Given the description of an element on the screen output the (x, y) to click on. 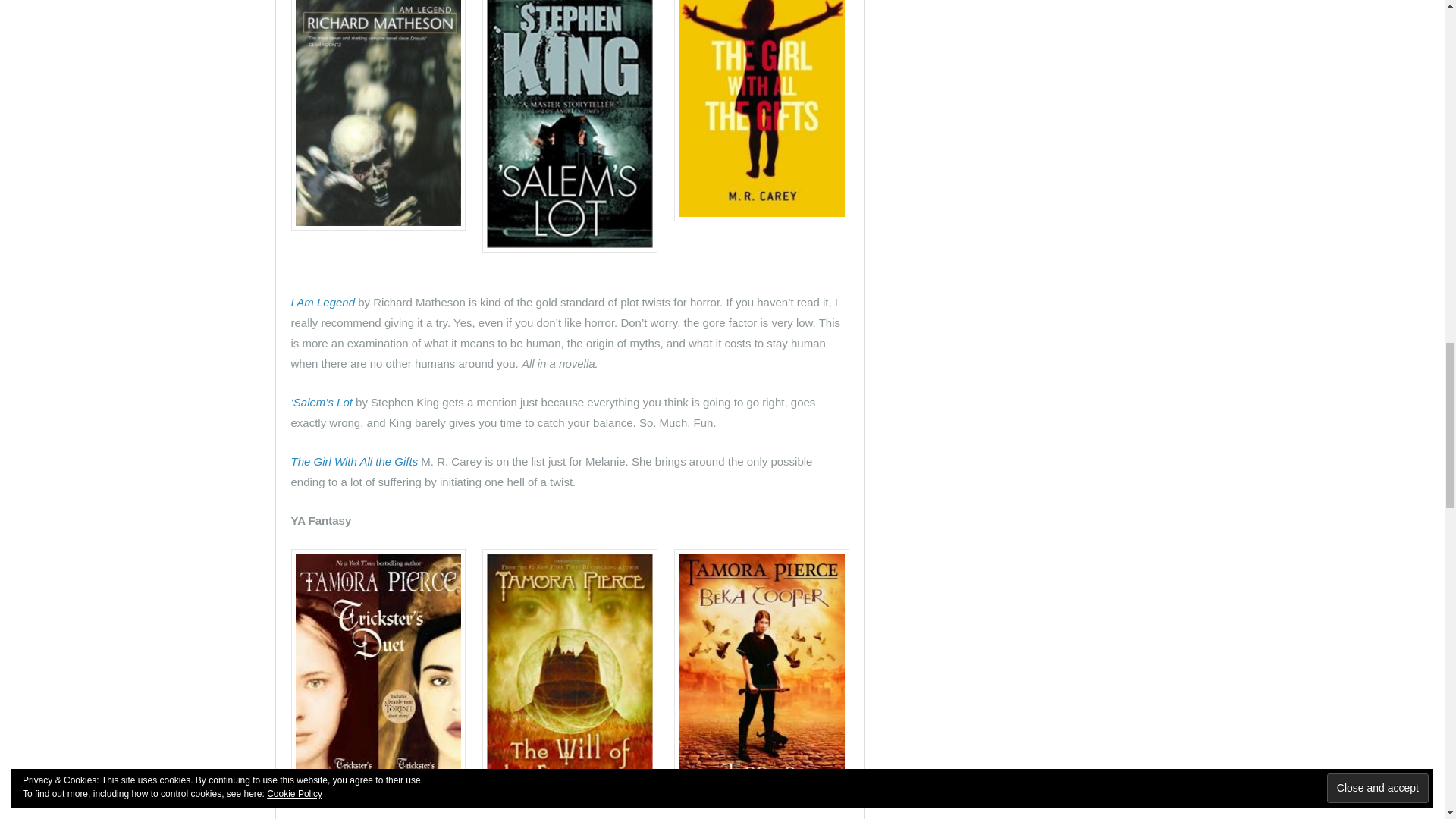
I Am Legend (323, 301)
The Girl With All the Gifts (355, 461)
